Given the description of an element on the screen output the (x, y) to click on. 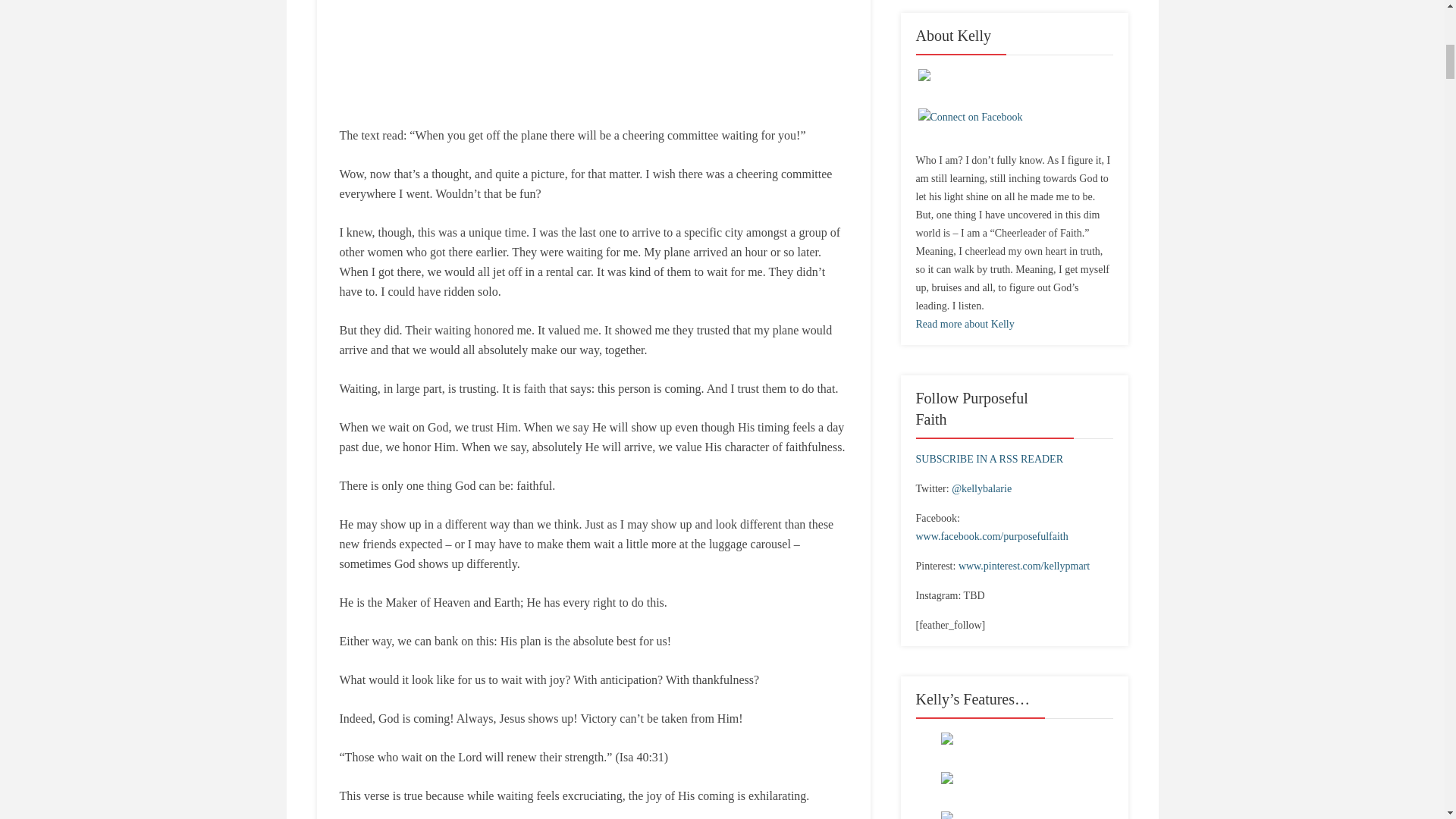
Are You Waiting on God? (593, 53)
